Given the description of an element on the screen output the (x, y) to click on. 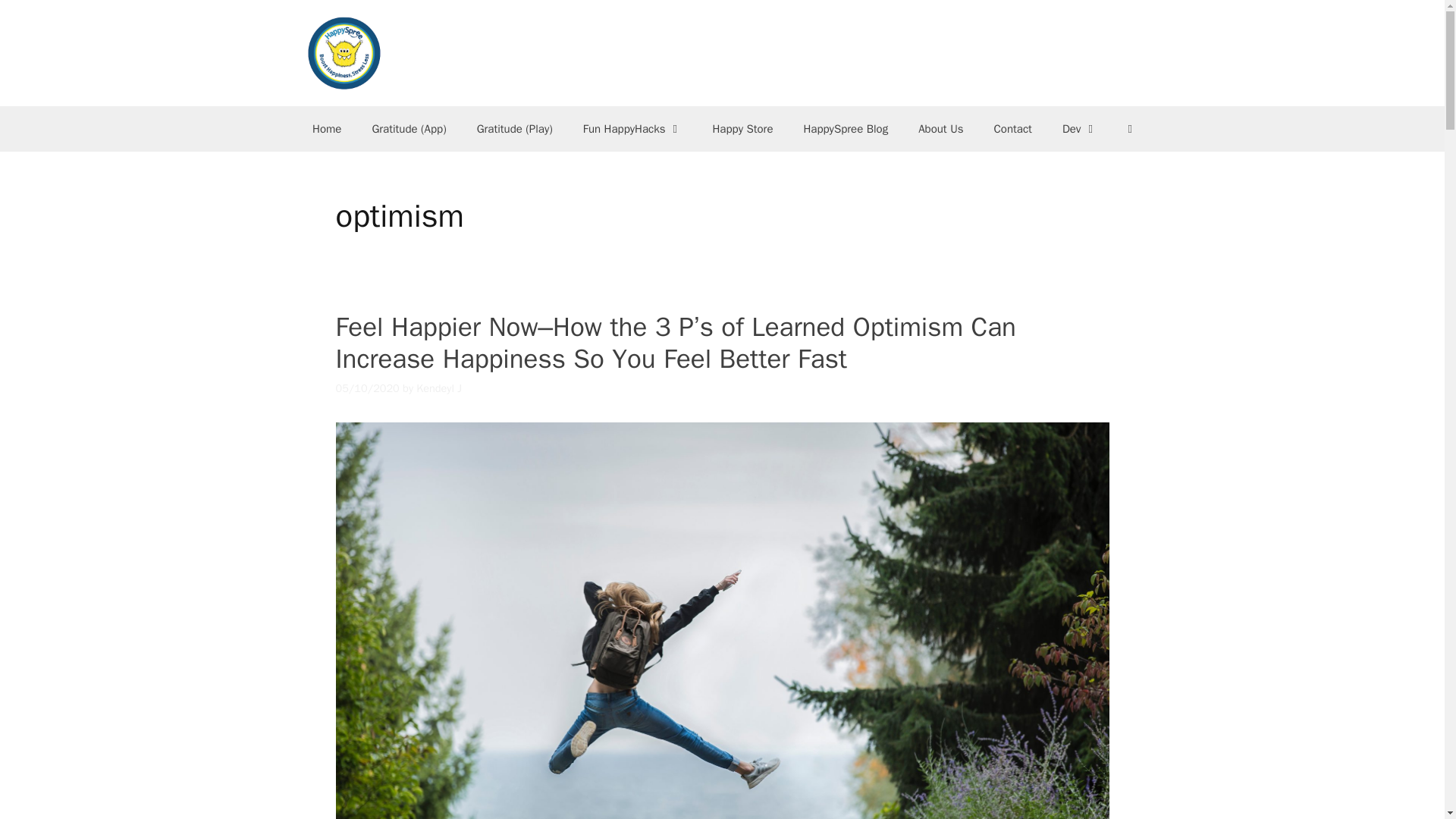
View your shopping cart (1129, 128)
Fun HappyHacks (632, 128)
HappySpree (342, 51)
Kendeyl J (438, 387)
HappySpree (342, 52)
Contact (1012, 128)
About Us (940, 128)
Home (326, 128)
Happy Store (742, 128)
Dev (1079, 128)
HappySpree Blog (844, 128)
View all posts by Kendeyl J (438, 387)
